Given the description of an element on the screen output the (x, y) to click on. 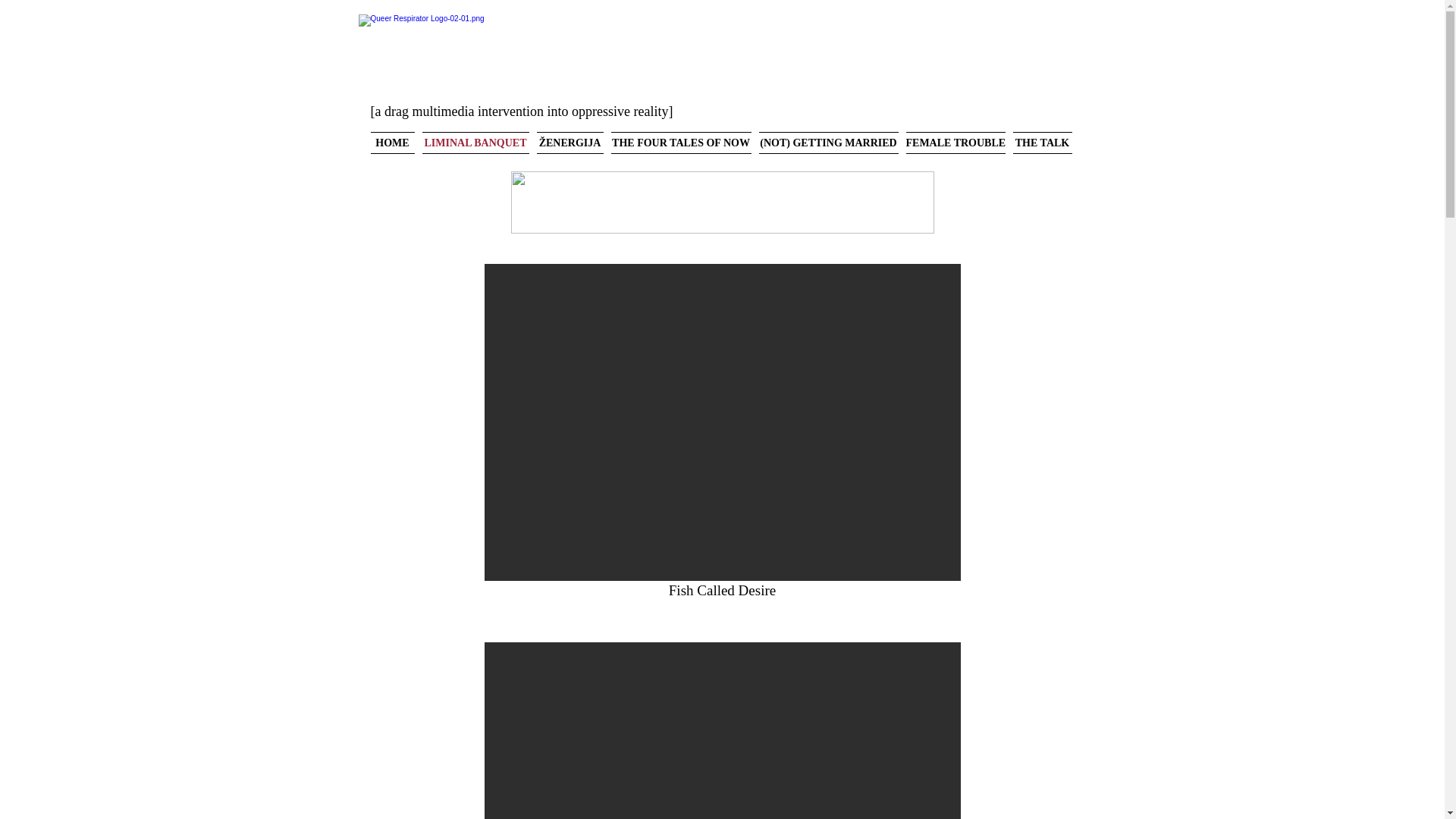
HOME (393, 142)
LIMINAL BANQUET (475, 142)
FEMALE TROUBLE (955, 142)
THE FOUR TALES OF NOW (680, 142)
THE TALK (1040, 142)
Liminal Banquet logo.png (722, 202)
